Given the description of an element on the screen output the (x, y) to click on. 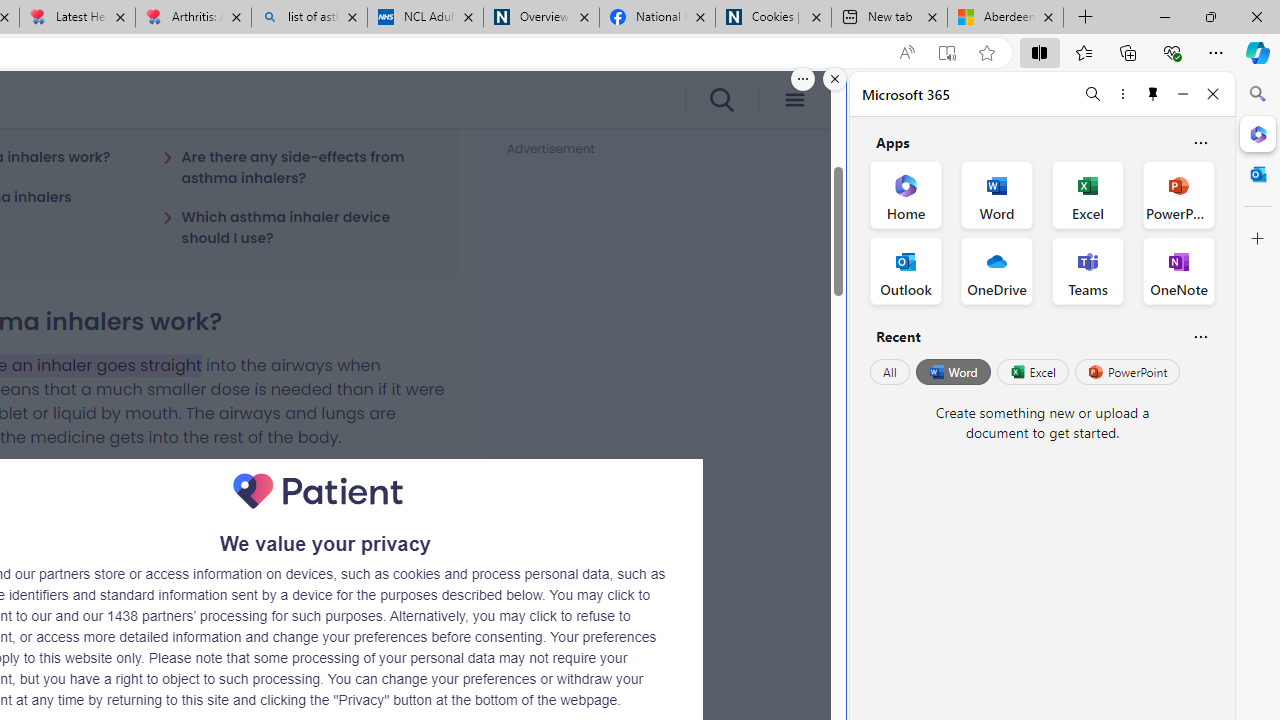
Cookies | About | NICE (772, 17)
Which asthma inhaler device should I use? (298, 227)
Search (1258, 94)
All (890, 372)
Word Office App (996, 194)
Excel (1031, 372)
OneNote Office App (1178, 270)
search (720, 99)
list of asthma inhalers uk - Search (309, 17)
Is this helpful? (1200, 336)
Aberdeen, Hong Kong SAR hourly forecast | Microsoft Weather (1005, 17)
NCL Adult Asthma Inhaler Choice Guideline (424, 17)
PowerPoint (1127, 372)
